Given the description of an element on the screen output the (x, y) to click on. 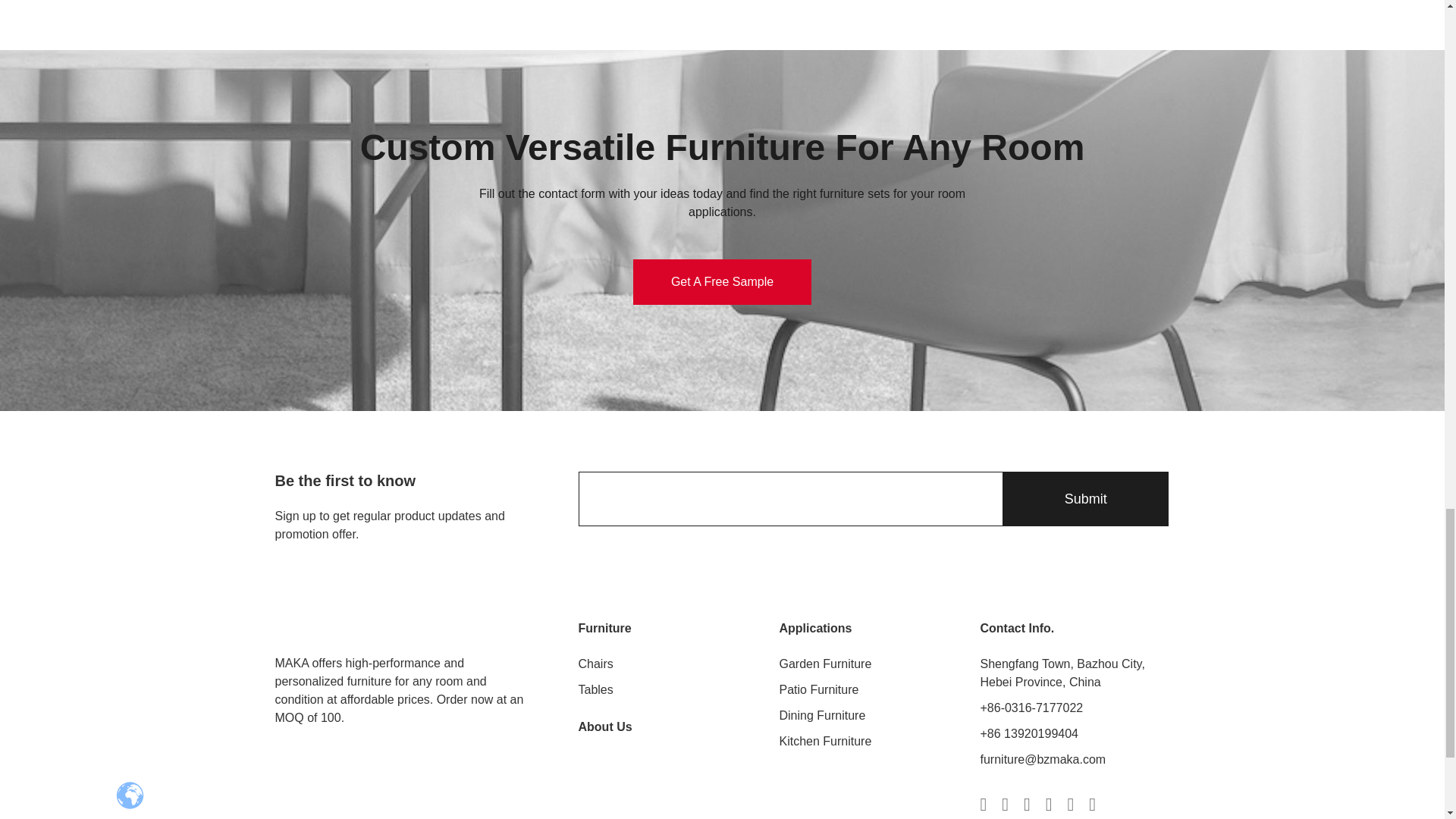
Submit (1085, 498)
Furniture (604, 628)
Get A Free Sample (721, 281)
Submit (1085, 498)
